Given the description of an element on the screen output the (x, y) to click on. 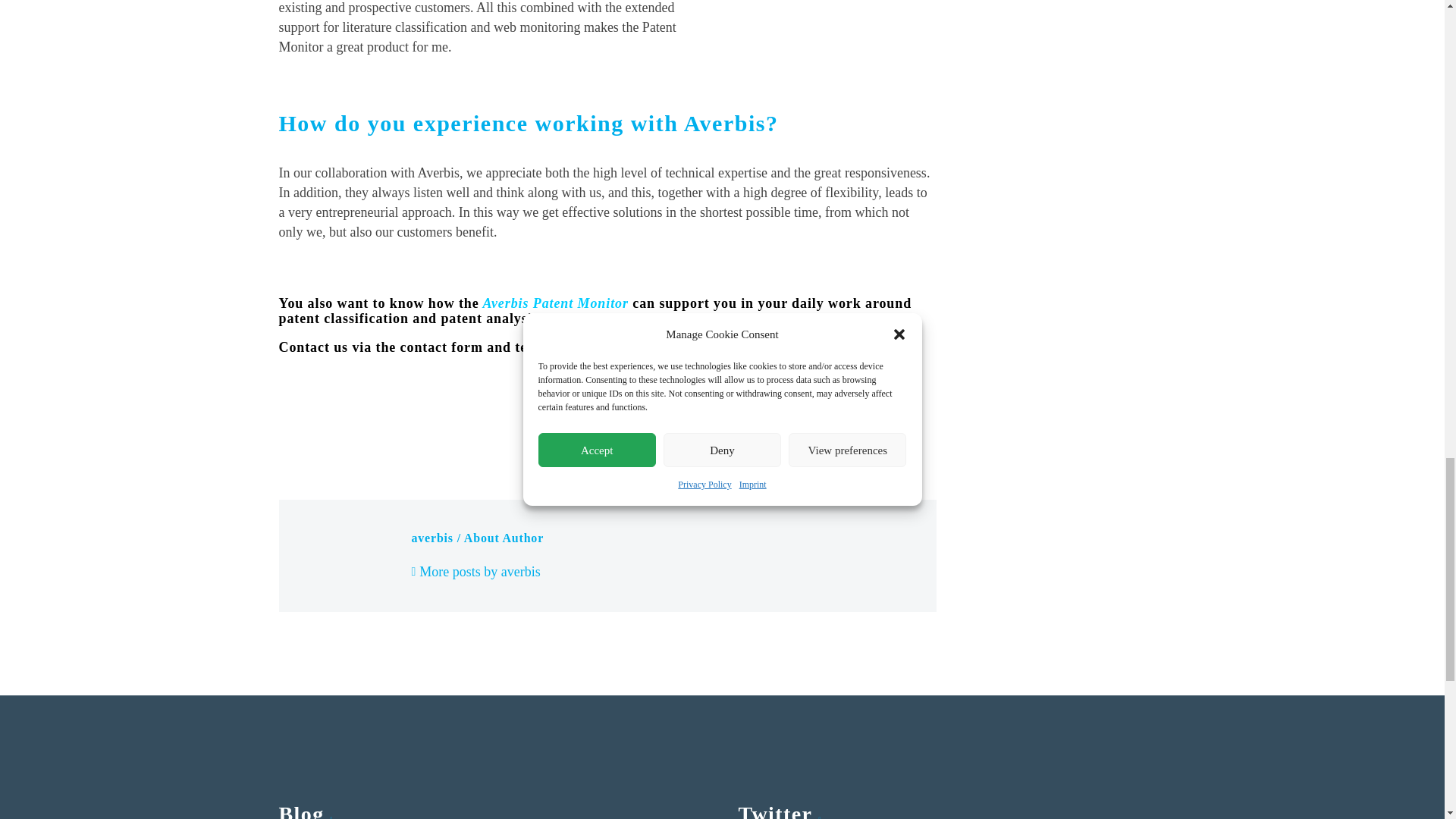
Tumblr (358, 421)
Reddit (403, 421)
Twitter (311, 421)
Facebook (288, 421)
LinkedIn (380, 421)
Pinterest (334, 421)
